Given the description of an element on the screen output the (x, y) to click on. 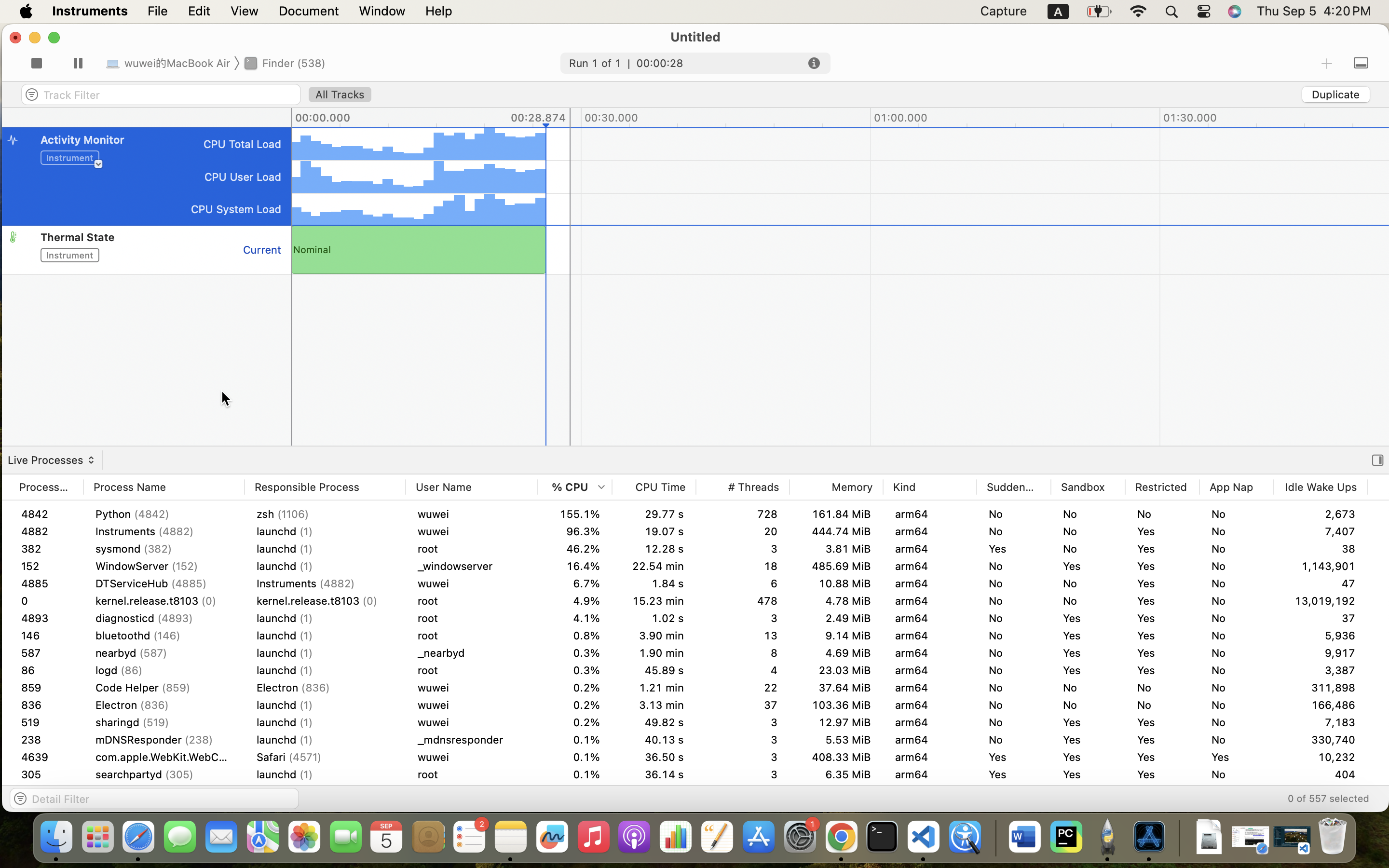
24.08 MiB Element type: AXStaticText (835, 617)
5 Element type: AXStaticText (742, 652)
108.9% Element type: AXStaticText (574, 531)
22 Element type: AXStaticText (742, 704)
587 Element type: AXStaticText (46, 670)
